Given the description of an element on the screen output the (x, y) to click on. 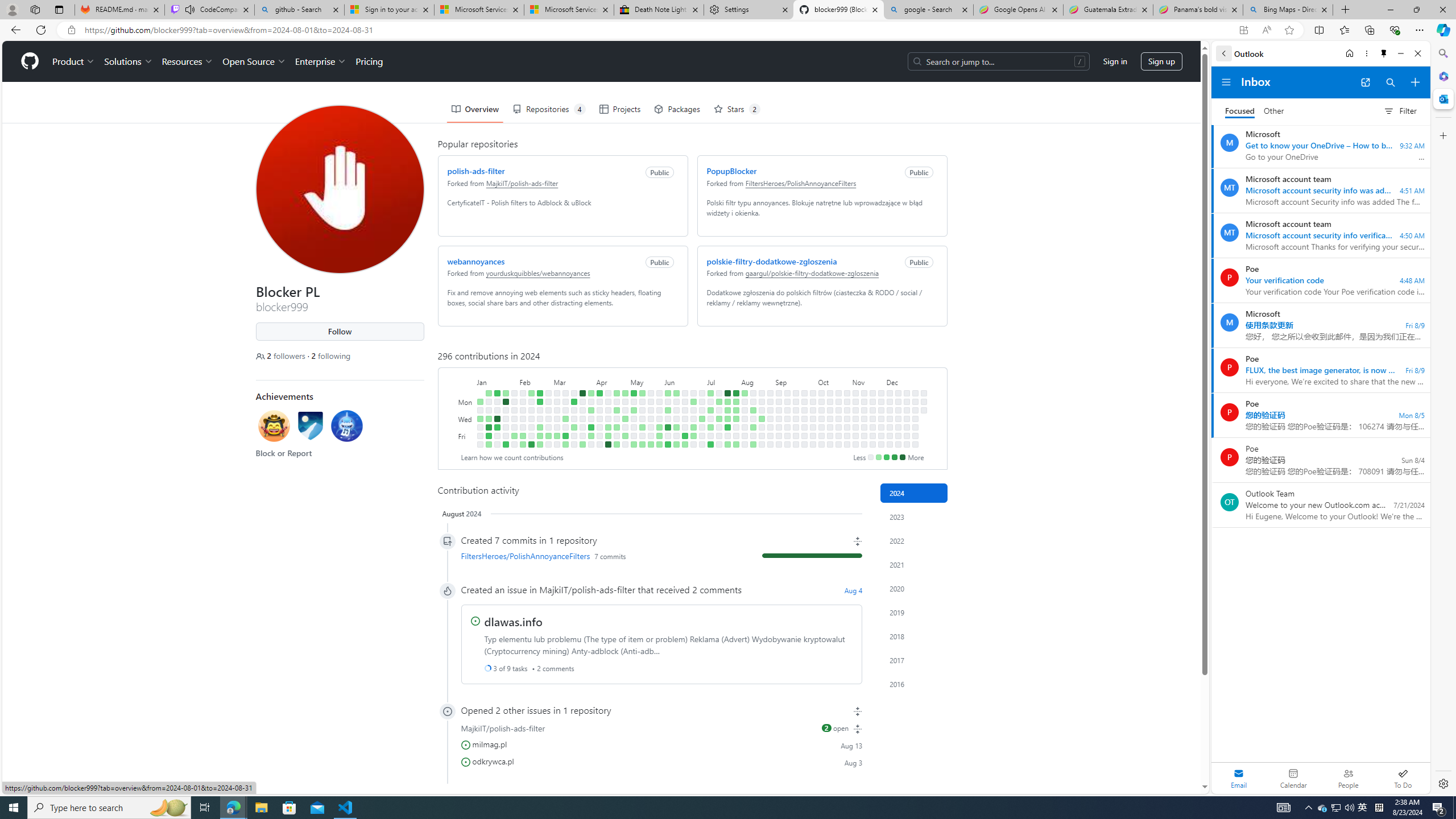
3 contributions on March 13th. (565, 418)
Achievement: Arctic Code Vault Contributor (310, 425)
FiltersHeroes/PolishAnnoyanceFilters 7 commits (661, 555)
No contributions on March 2nd. (547, 444)
No contributions on August 12th. (753, 401)
No contributions on October 13th. (829, 392)
No contributions on October 5th. (812, 444)
Solutions (128, 60)
Aug 4 (853, 589)
1 contribution on July 24th. (726, 418)
No contributions on January 26th. (505, 435)
No contributions on November 18th. (872, 401)
